Given the description of an element on the screen output the (x, y) to click on. 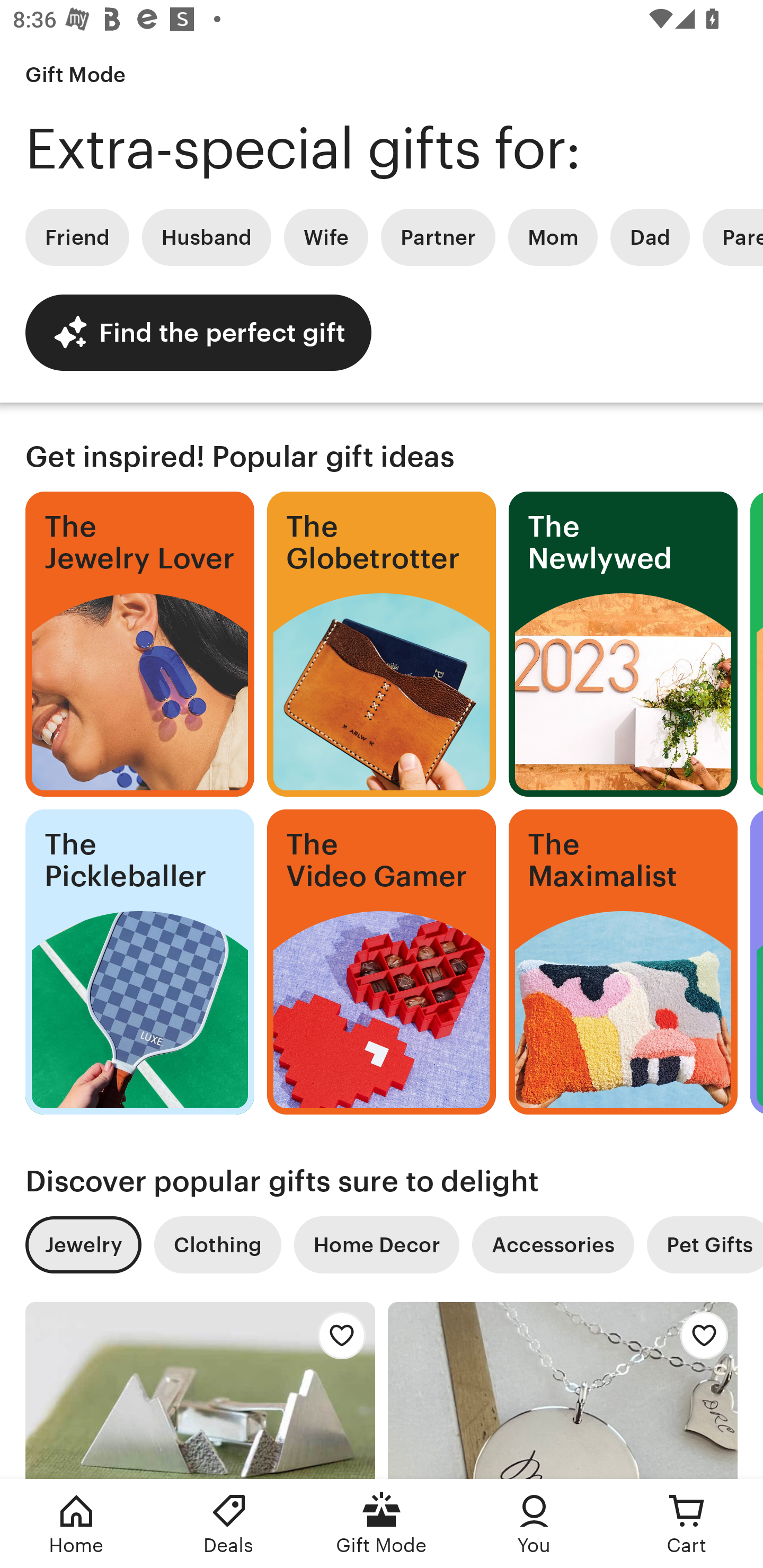
Friend (76, 237)
Husband (206, 237)
Wife (325, 237)
Partner (437, 237)
Mom (552, 237)
Dad (649, 237)
Find the perfect gift (198, 332)
The Jewelry Lover (139, 644)
The Globetrotter (381, 644)
The Newlywed (622, 644)
The Pickleballer (139, 961)
The Video Gamer (381, 961)
The Maximalist (622, 961)
Jewelry (83, 1244)
Clothing (217, 1244)
Home Decor (376, 1244)
Accessories (553, 1244)
Pet Gifts (705, 1244)
Home (76, 1523)
Deals (228, 1523)
You (533, 1523)
Cart (686, 1523)
